Given the description of an element on the screen output the (x, y) to click on. 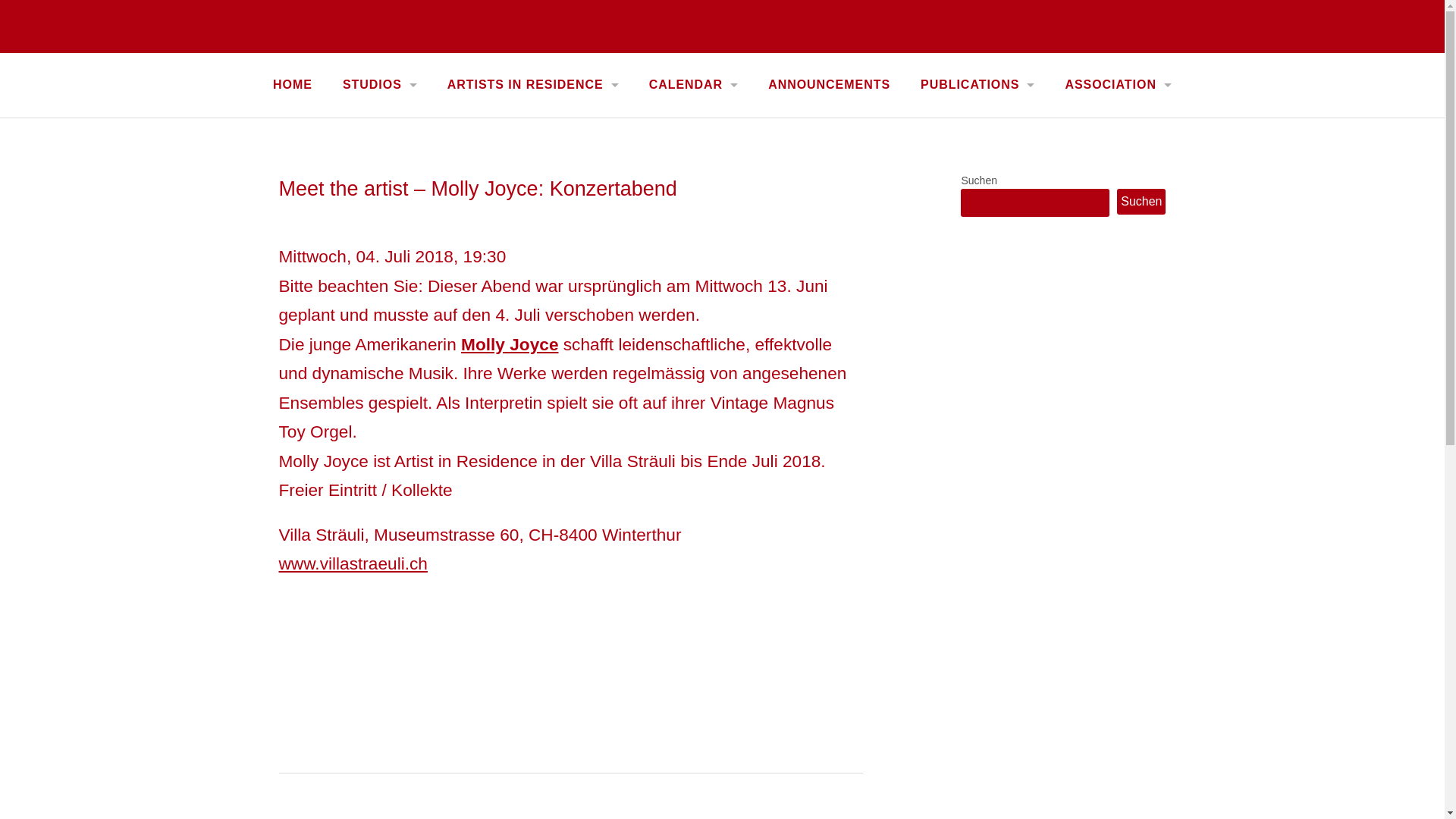
ANNOUNCED ARTISTS Element type: text (533, 144)
CALENDAR Element type: text (693, 84)
www.villastraeuli.ch Element type: text (353, 563)
NEW STUDIO Element type: text (379, 170)
CURRENTLY IN SWITZERLAND Element type: text (533, 117)
LINKS Element type: text (1118, 117)
BECOME A MEMBER Element type: text (1118, 144)
EXHIBITIONS Element type: text (693, 144)
ANNOUNCEMENTS Element type: text (829, 84)
ARTISTS IN RESIDENCE Element type: text (532, 84)
Suchen Element type: text (1141, 201)
STUDIOS DOMESTIC Element type: text (379, 117)
ASSOCIATION Element type: text (1117, 84)
STUDIOS FOREIGN Element type: text (379, 144)
NEWSLETTER Element type: text (977, 117)
STUDIOS Element type: text (379, 84)
EVENTS Element type: text (693, 117)
PUBLICATIONS Element type: text (977, 84)
EXECUTIVE BOARD Element type: text (1118, 170)
Molly Joyce Element type: text (509, 344)
SWISS ARTISTS ANNOUNCED ABROAD Element type: text (533, 197)
SWISS ARTISTS CURRENTLY ABROAD Element type: text (533, 170)
MEETINGS Element type: text (977, 144)
HOME Element type: text (292, 84)
